Given the description of an element on the screen output the (x, y) to click on. 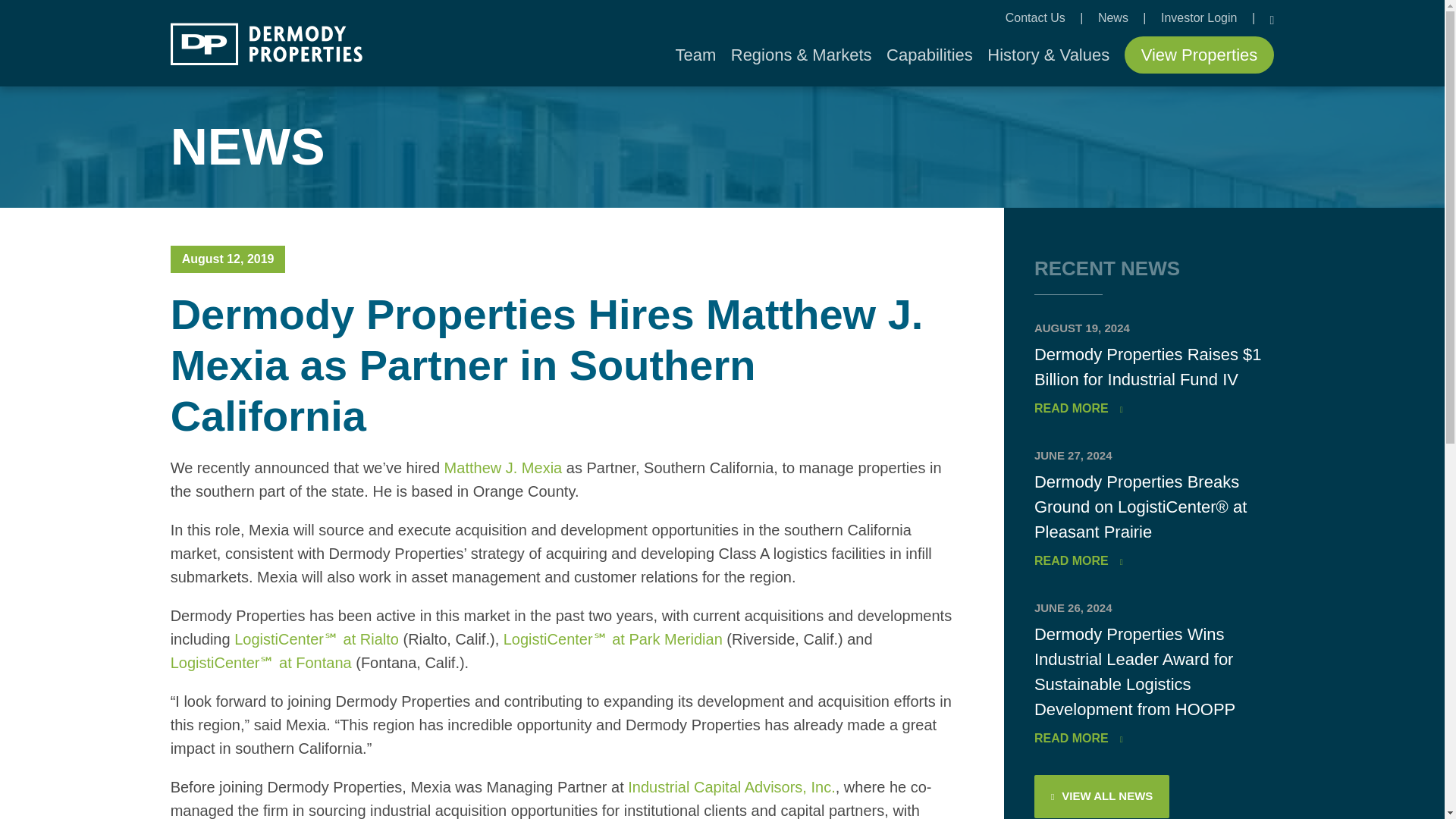
Capabilities (929, 54)
Investor Login (1200, 17)
Team (695, 54)
View Properties (1199, 54)
News (1114, 17)
Contact Us (1037, 17)
